Given the description of an element on the screen output the (x, y) to click on. 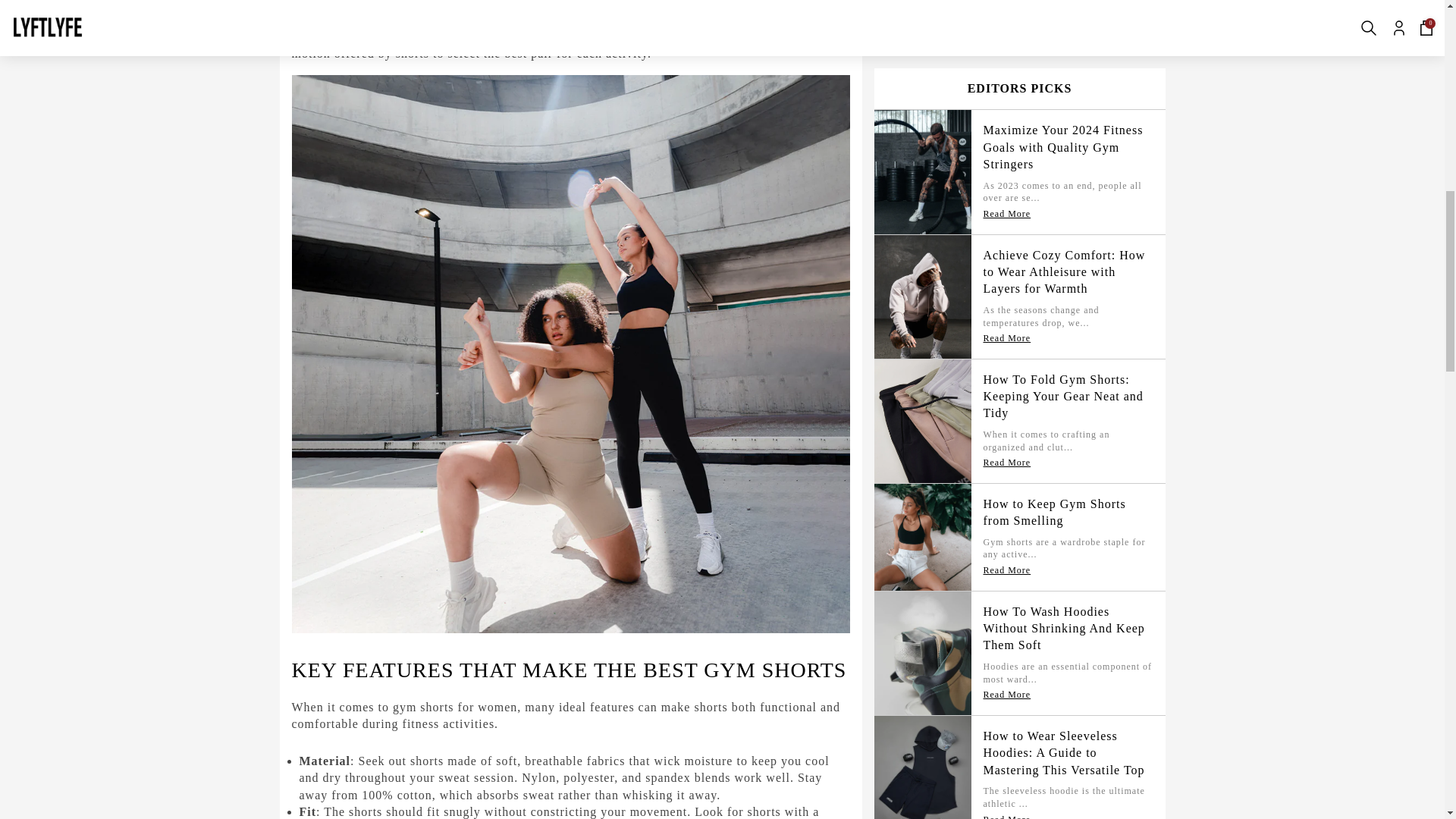
Read More (1006, 136)
LYFTLYFE HIIT women's gym shorts in red (553, 12)
Read More (1006, 510)
Read More (1006, 385)
Read More (1006, 260)
Read More (1006, 29)
